Given the description of an element on the screen output the (x, y) to click on. 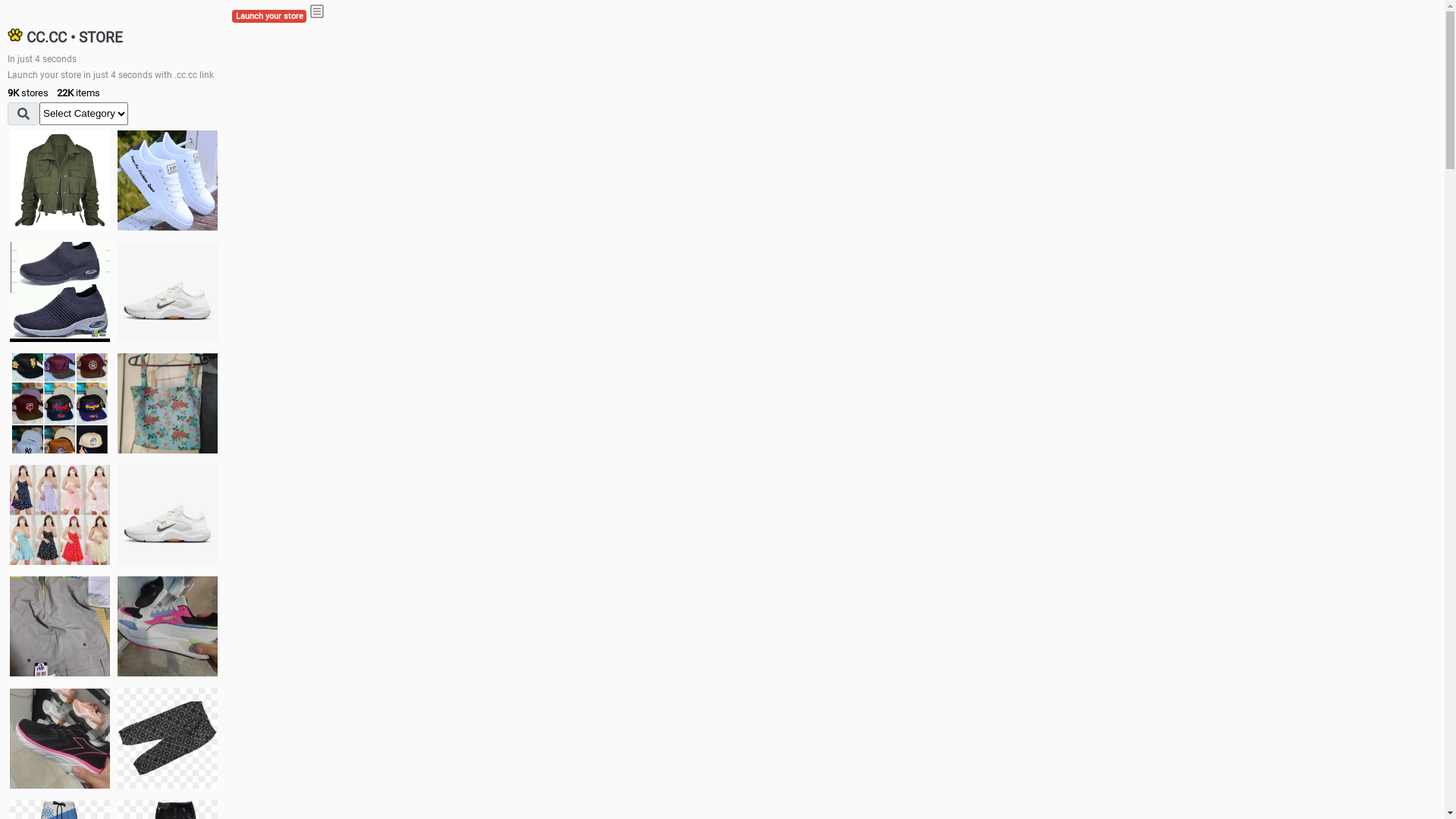
Shoes Element type: hover (167, 514)
white shoes Element type: hover (167, 180)
Zapatillas Element type: hover (59, 738)
Things we need Element type: hover (59, 403)
Dress/square nect top Element type: hover (59, 514)
jacket Element type: hover (59, 180)
Ukay cloth Element type: hover (167, 403)
Short pant Element type: hover (167, 737)
Zapatillas pumas Element type: hover (167, 626)
Launch your store Element type: text (269, 15)
shoes for boys Element type: hover (59, 291)
Shoes for boys Element type: hover (167, 291)
